Given the description of an element on the screen output the (x, y) to click on. 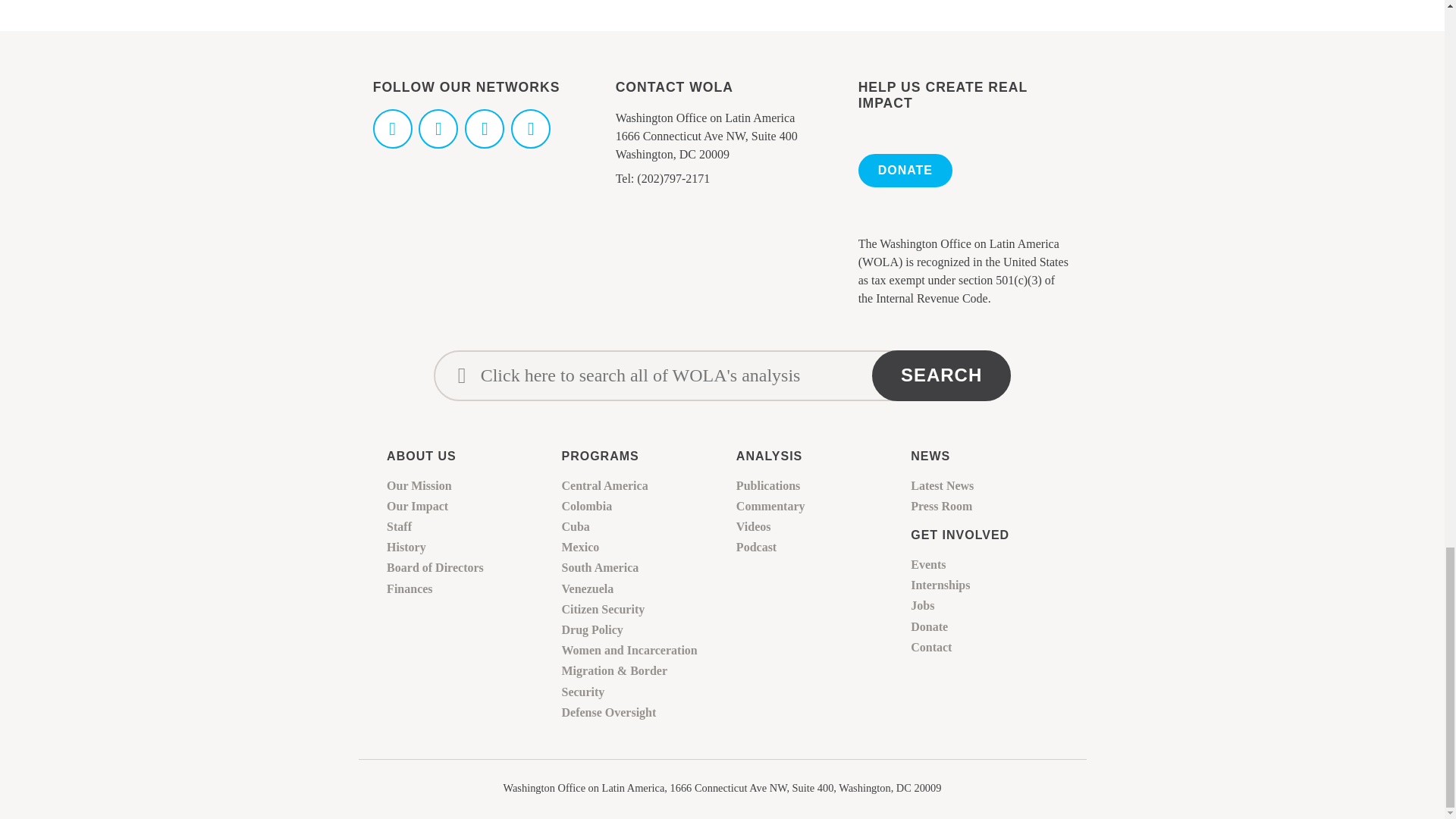
Search (941, 375)
Search (941, 375)
